Given the description of an element on the screen output the (x, y) to click on. 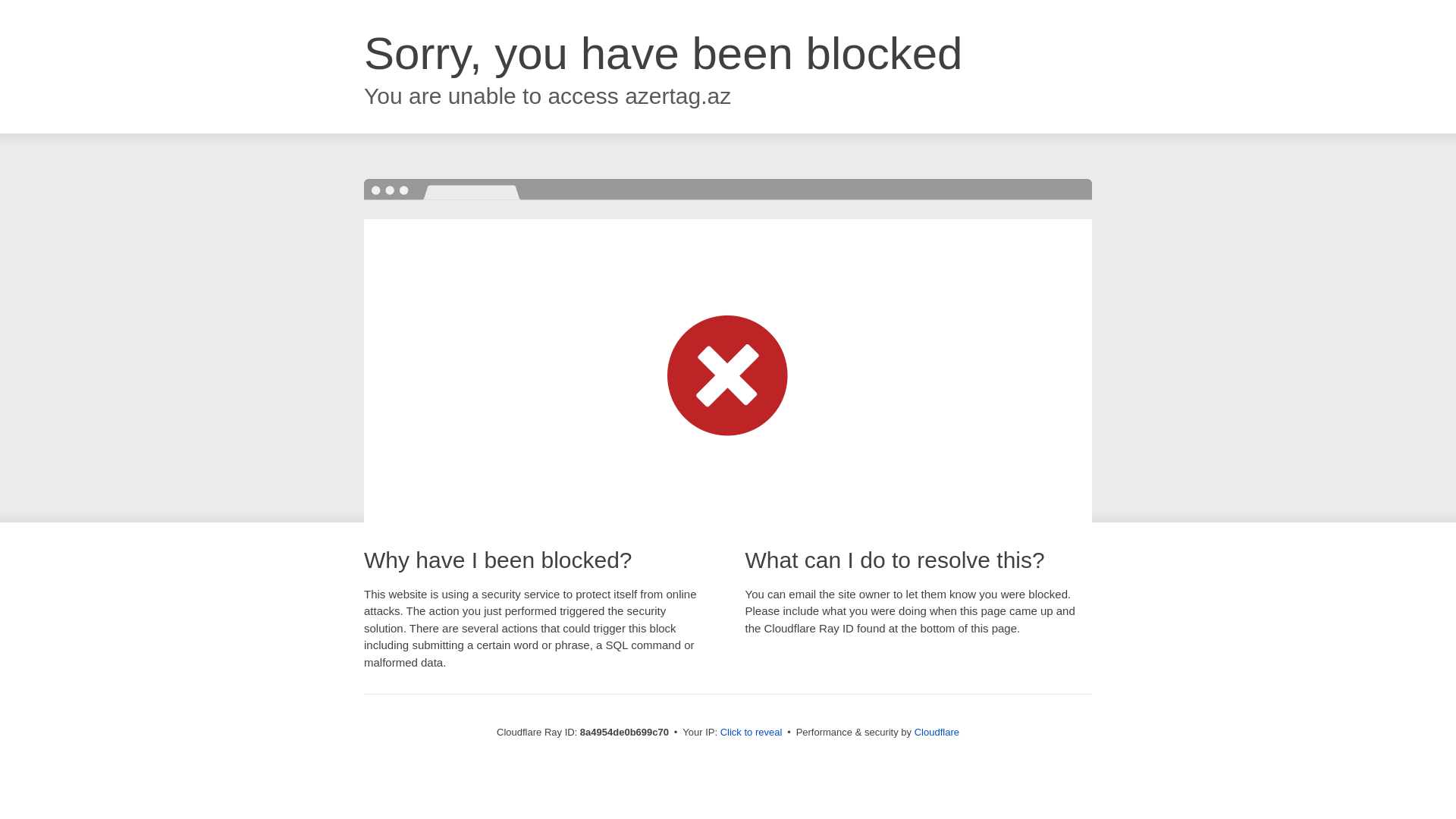
Cloudflare (936, 731)
Click to reveal (751, 732)
